Given the description of an element on the screen output the (x, y) to click on. 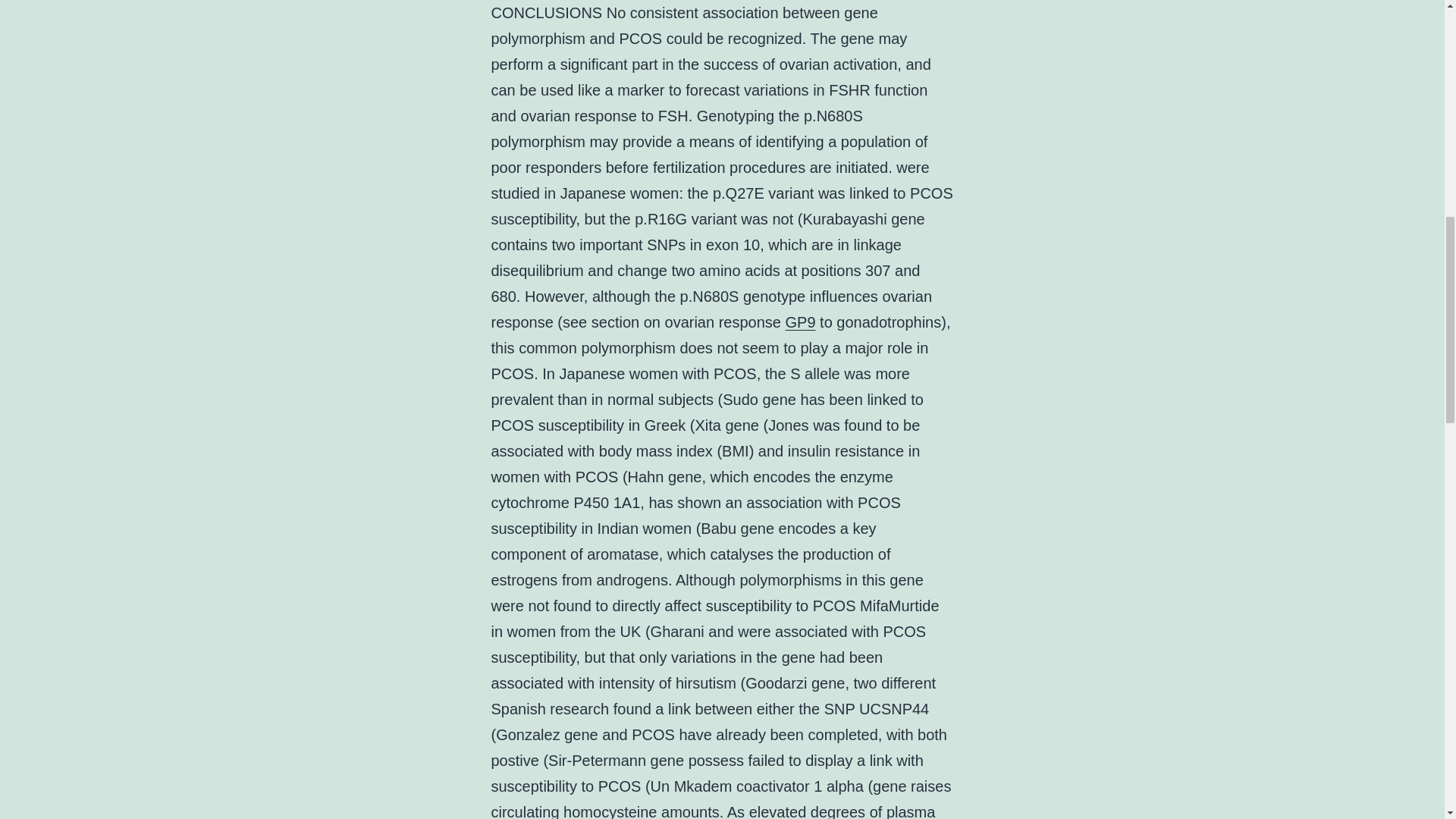
GP9 (800, 321)
